Given the description of an element on the screen output the (x, y) to click on. 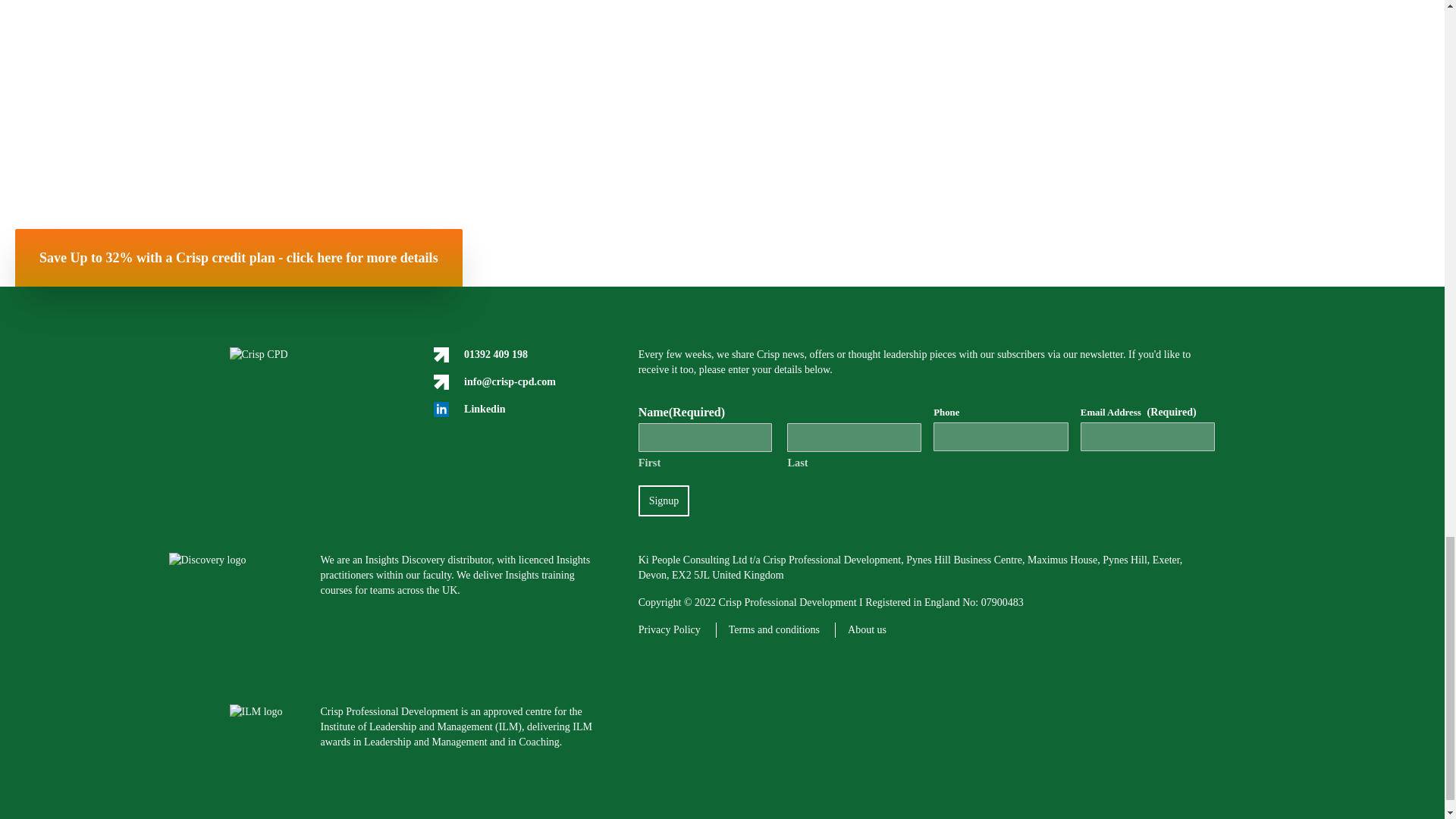
Signup (664, 500)
